Given the description of an element on the screen output the (x, y) to click on. 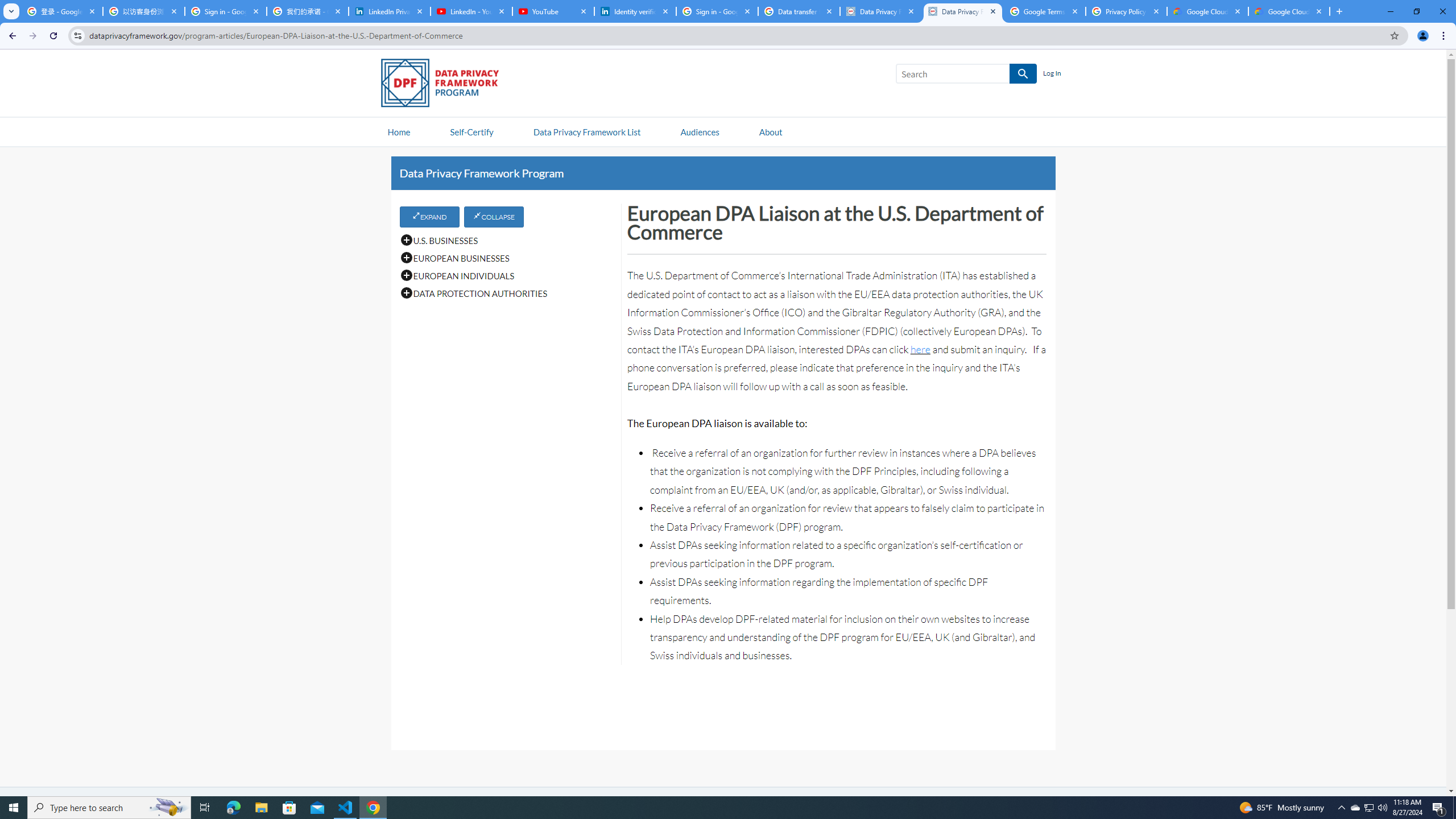
Log In (1051, 73)
LinkedIn - YouTube (470, 11)
AutomationID: navitem (699, 131)
Google Cloud Privacy Notice (1207, 11)
Google Cloud Privacy Notice (1289, 11)
Self-Certify (471, 131)
here (920, 349)
Sign in - Google Accounts (225, 11)
LinkedIn Privacy Policy (389, 11)
